Given the description of an element on the screen output the (x, y) to click on. 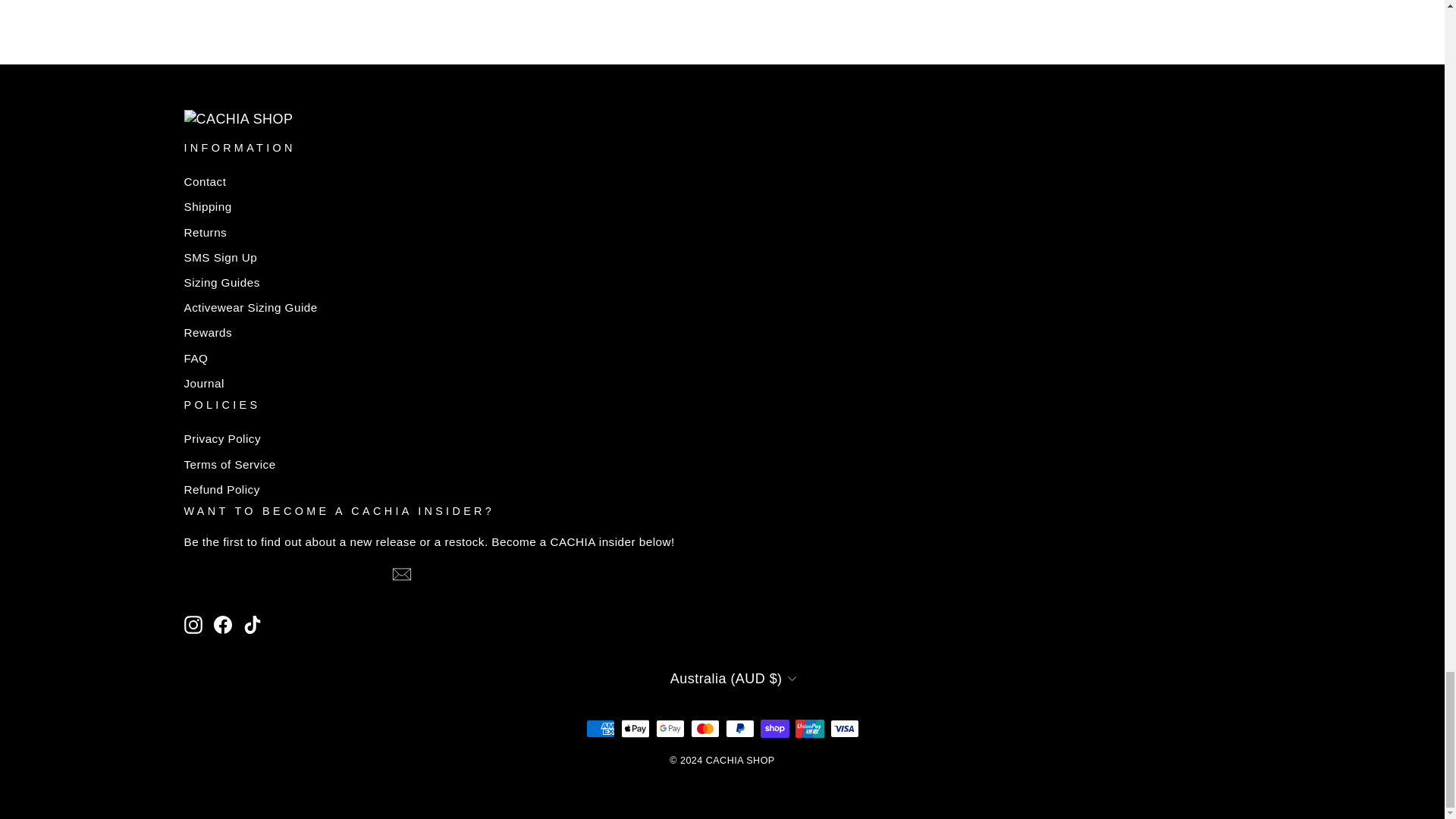
CACHIA SHOP on Facebook (222, 624)
CACHIA SHOP on TikTok (251, 624)
Mastercard (704, 728)
American Express (599, 728)
CACHIA SHOP on Instagram (192, 624)
Apple Pay (634, 728)
Google Pay (669, 728)
